Given the description of an element on the screen output the (x, y) to click on. 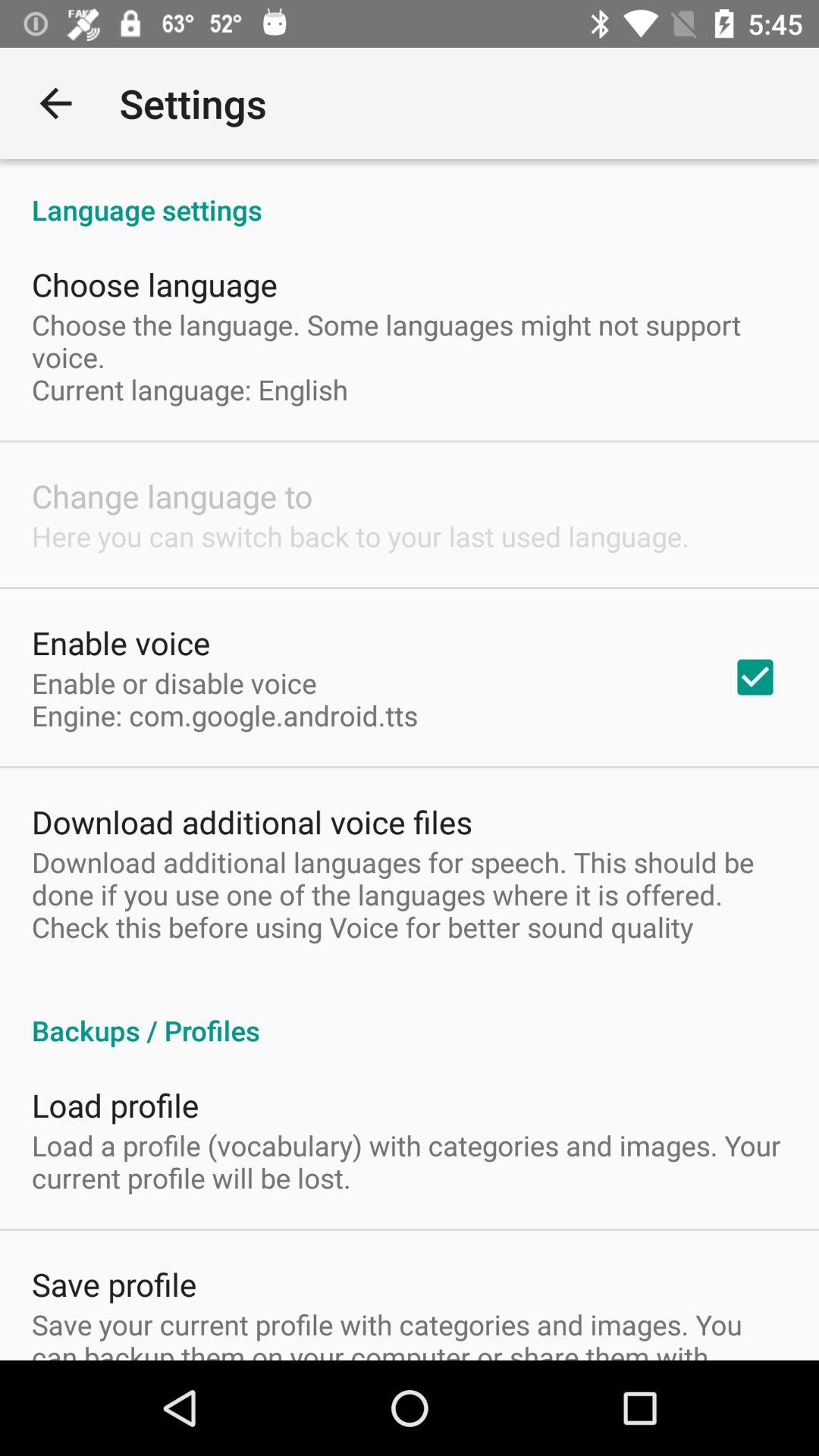
flip until the backups / profiles icon (409, 1014)
